Given the description of an element on the screen output the (x, y) to click on. 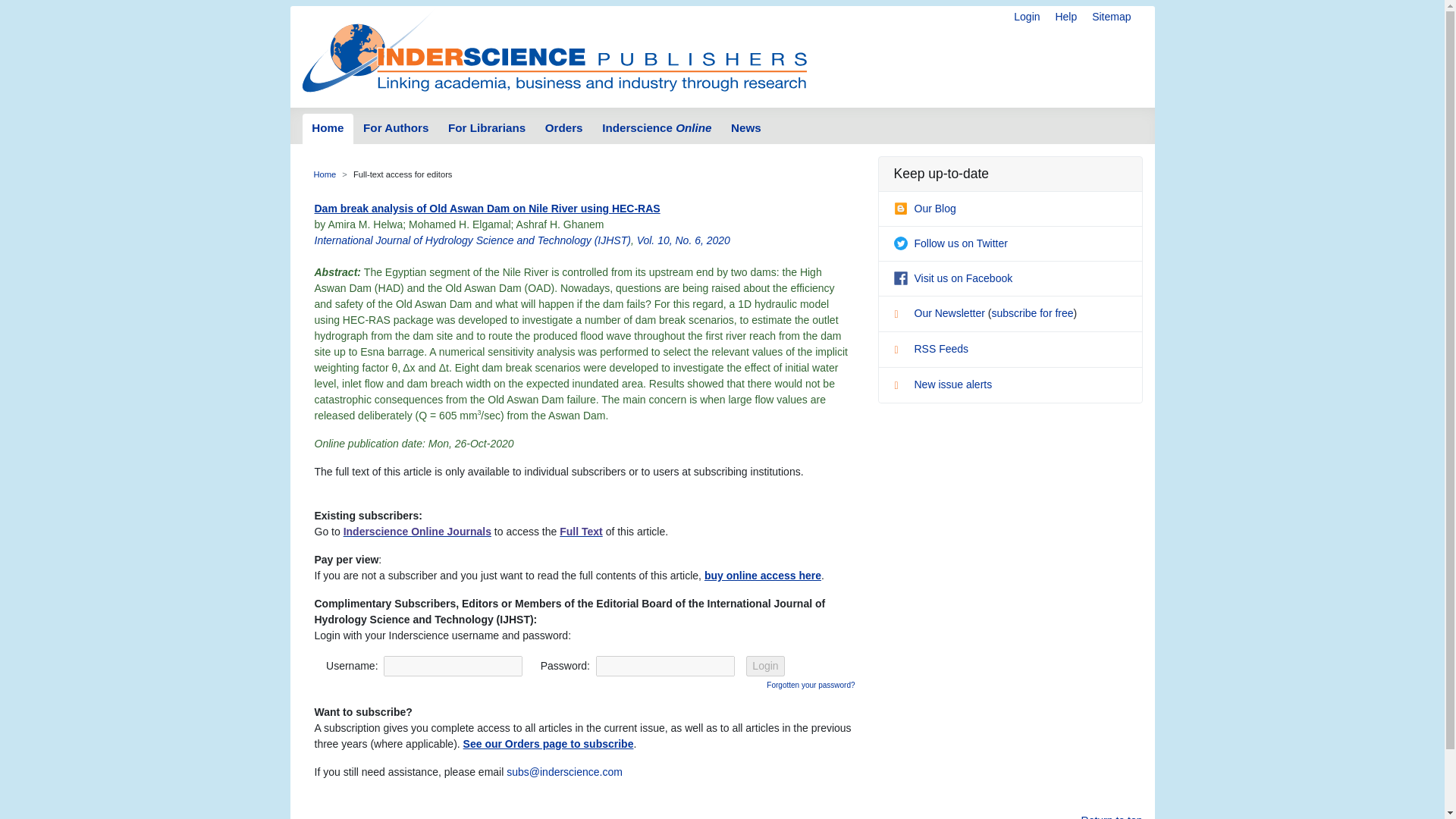
RSS (901, 351)
Orders (563, 128)
subscribe for free (1032, 313)
For Authors (395, 128)
Return to top (1111, 816)
Home (325, 174)
Home (327, 128)
Our Newsletter (940, 313)
Login (764, 666)
